Given the description of an element on the screen output the (x, y) to click on. 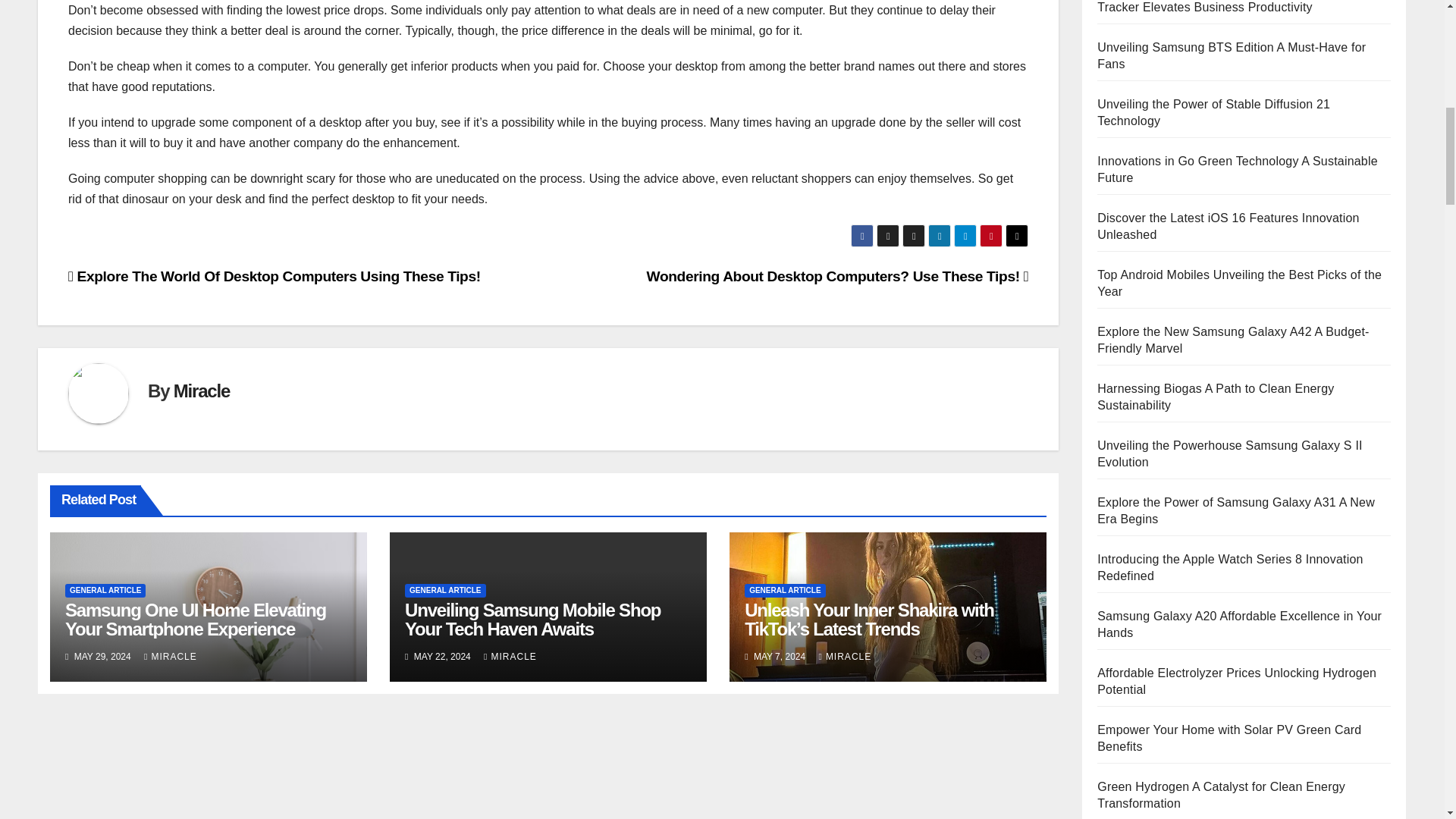
Explore The World Of Desktop Computers Using These Tips! (274, 276)
Miracle (201, 390)
Wondering About Desktop Computers? Use These Tips! (837, 276)
